Given the description of an element on the screen output the (x, y) to click on. 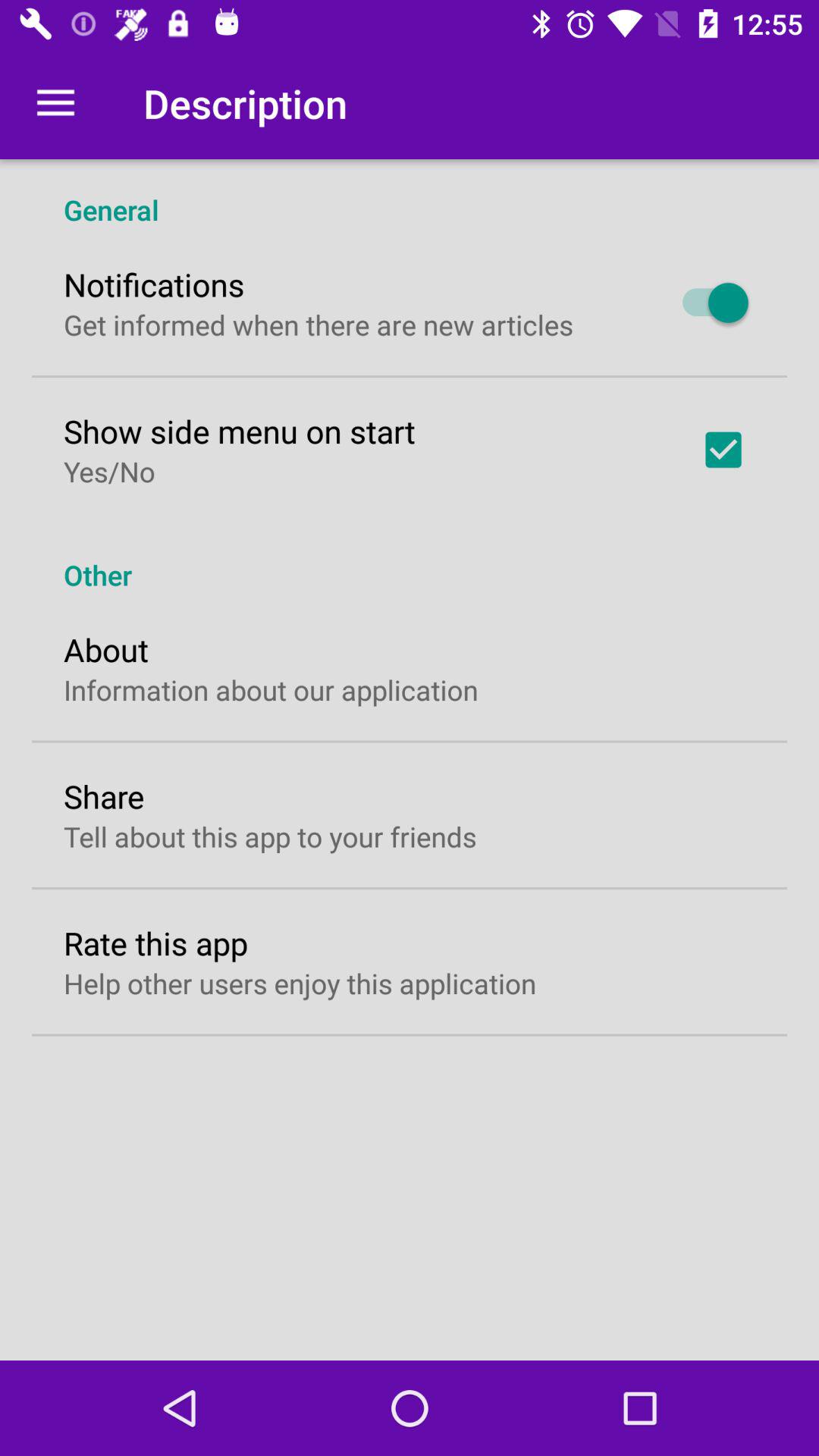
choose icon above general (55, 103)
